Given the description of an element on the screen output the (x, y) to click on. 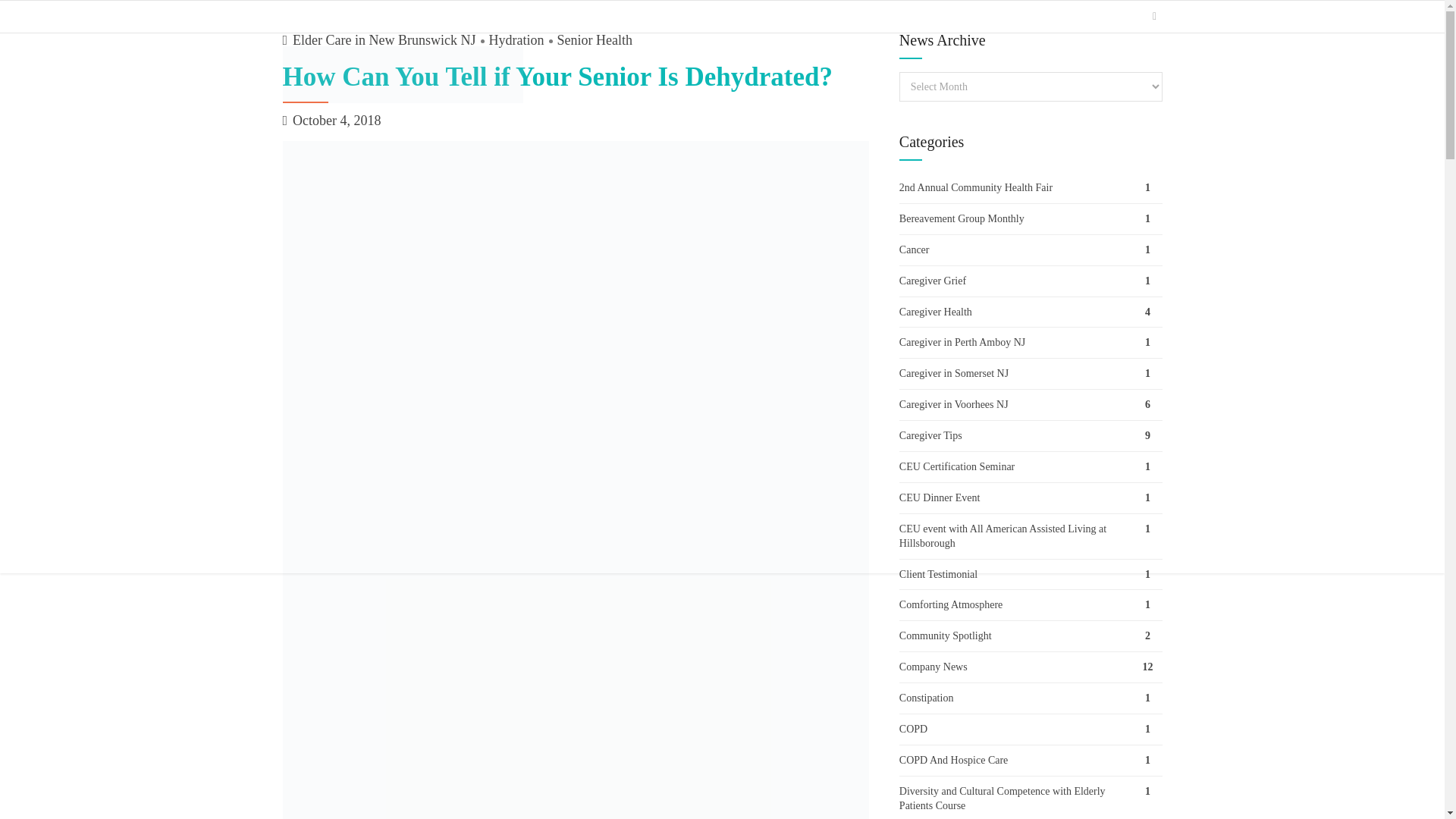
Elder Care in New Brunswick NJ (384, 40)
CEU Certification Seminar (1030, 467)
Caregiver in Perth Amboy NJ (1030, 343)
Caregiver in Somerset NJ (1030, 374)
Hydration (510, 40)
Caregiver Health (1030, 313)
Caregiver Tips (1030, 436)
Senior Health (587, 40)
Cancer (1030, 250)
Caregiver in Voorhees NJ (1030, 405)
2nd Annual Community Health Fair (1030, 188)
Caregiver Grief (1030, 281)
Bereavement Group Monthly (1030, 219)
